Given the description of an element on the screen output the (x, y) to click on. 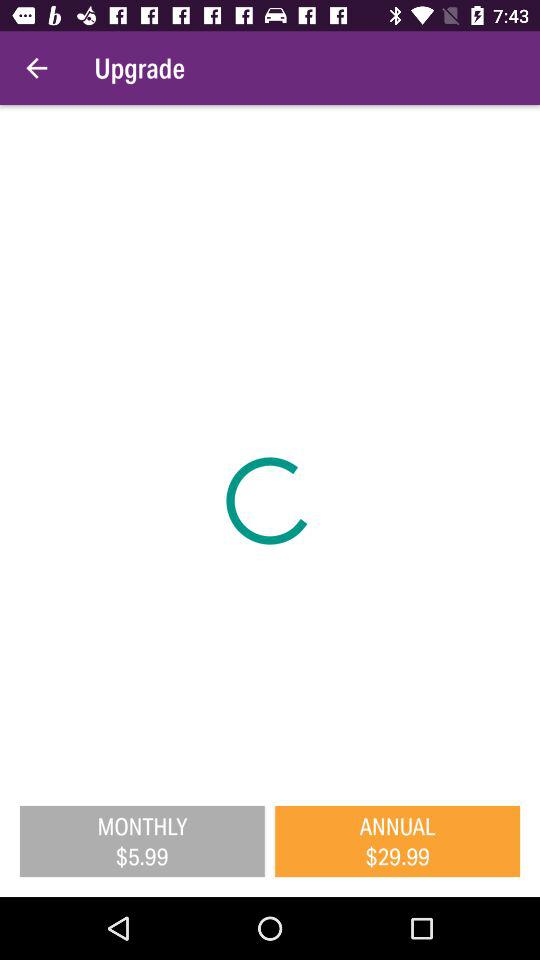
press icon next to upgrade item (36, 68)
